Given the description of an element on the screen output the (x, y) to click on. 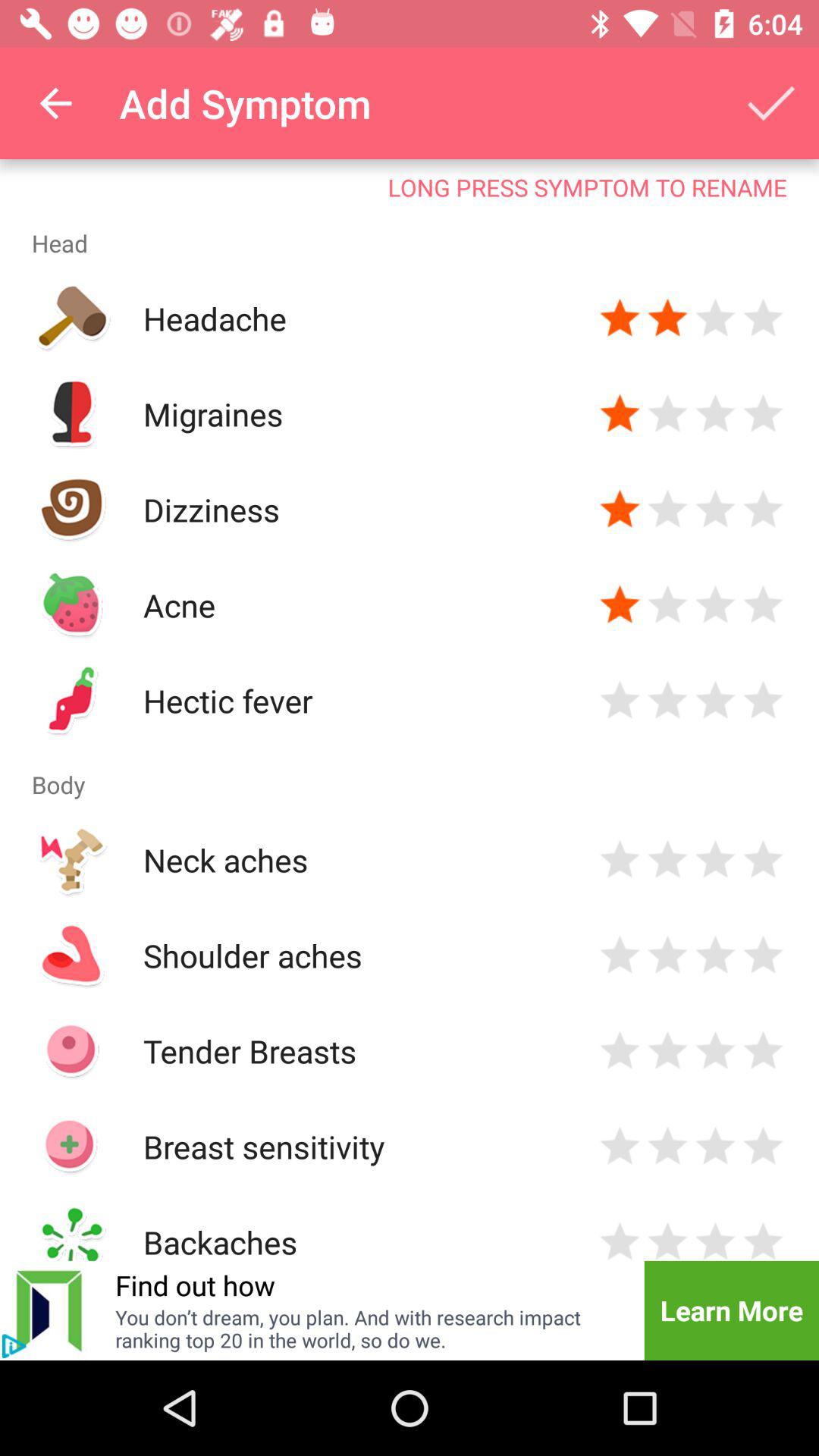
give a two stars rate (667, 1239)
